Given the description of an element on the screen output the (x, y) to click on. 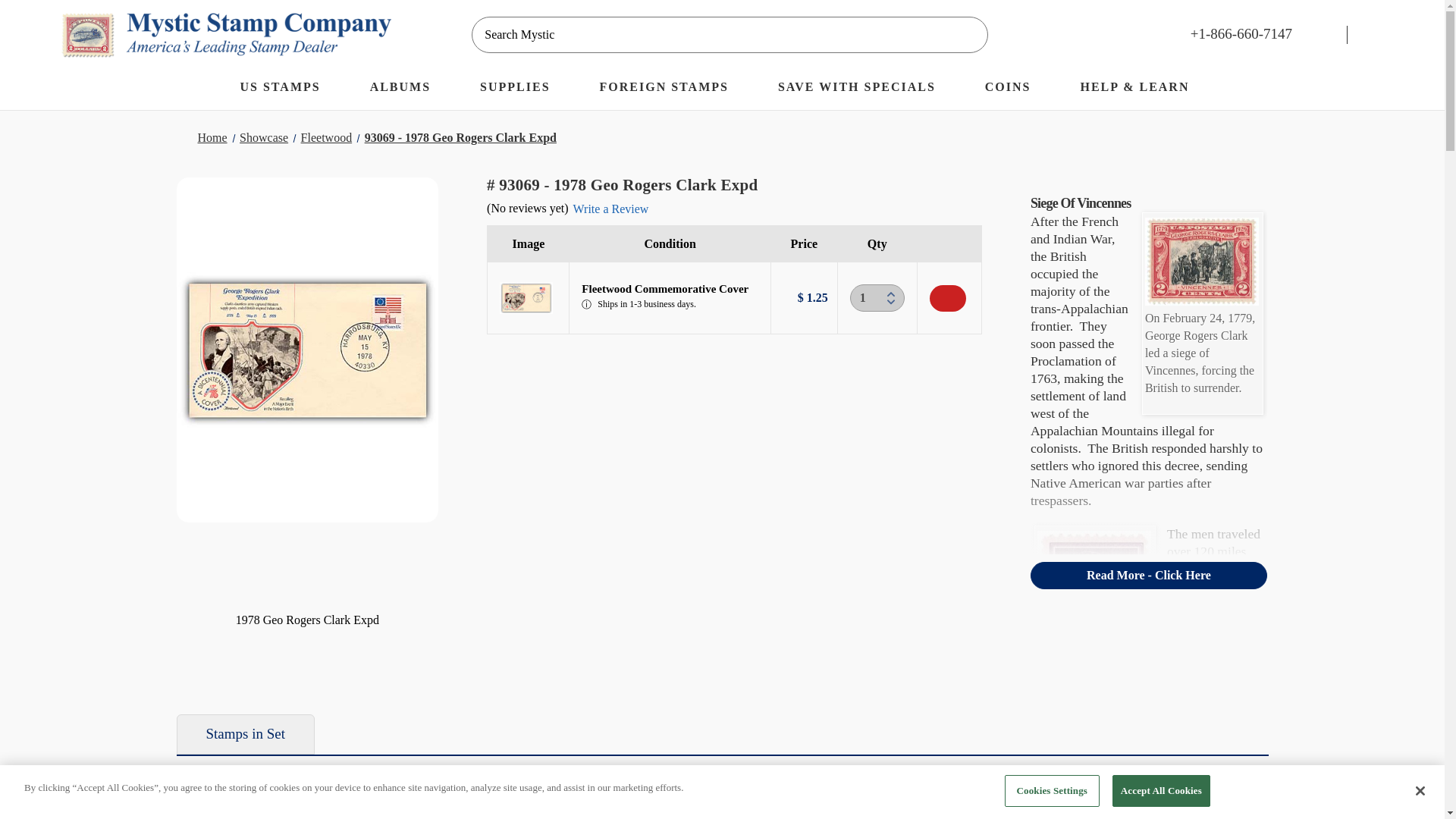
Mystic Stamp Company (226, 34)
SUPPLIES (521, 88)
ALBUMS (408, 88)
US STAMPS (287, 88)
